Given the description of an element on the screen output the (x, y) to click on. 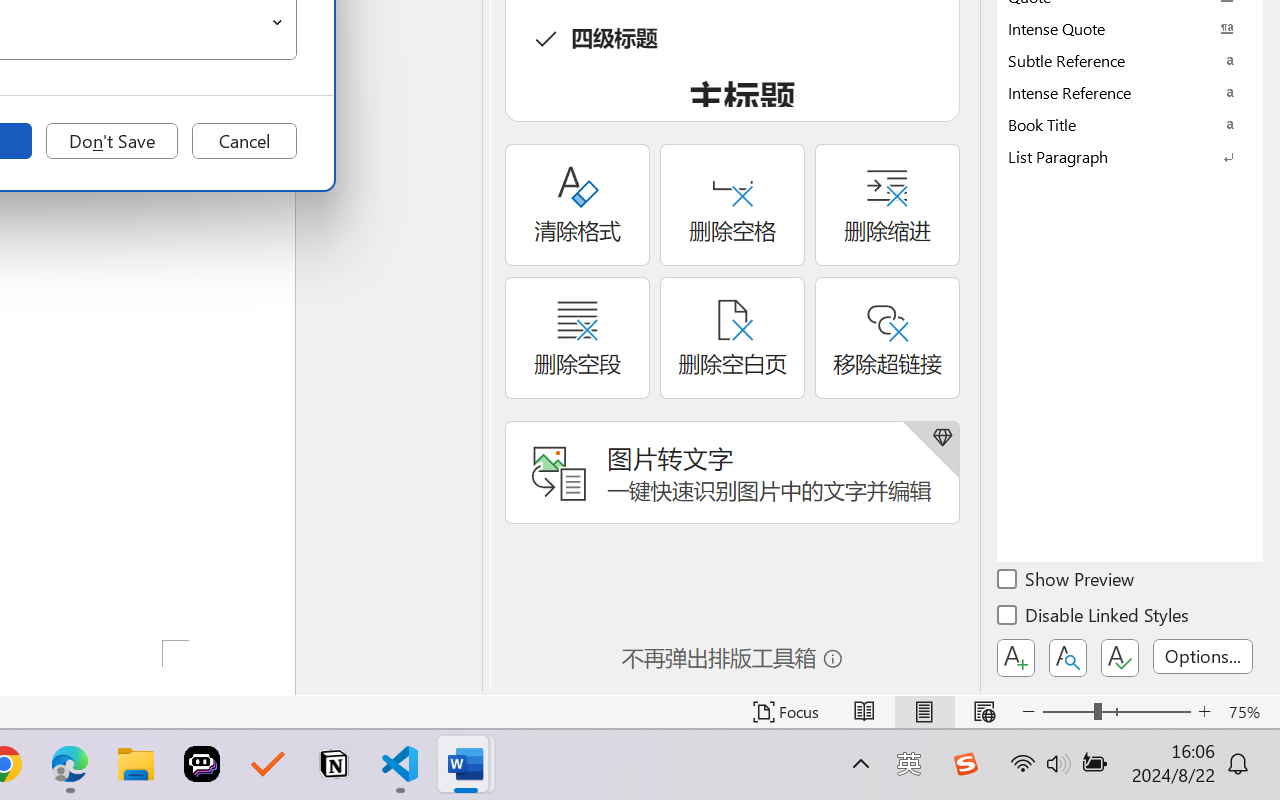
Focus  (786, 712)
Intense Quote (1130, 28)
Print Layout (924, 712)
Class: NetUIImage (1116, 156)
Disable Linked Styles (1094, 618)
Read Mode (864, 712)
